Given the description of an element on the screen output the (x, y) to click on. 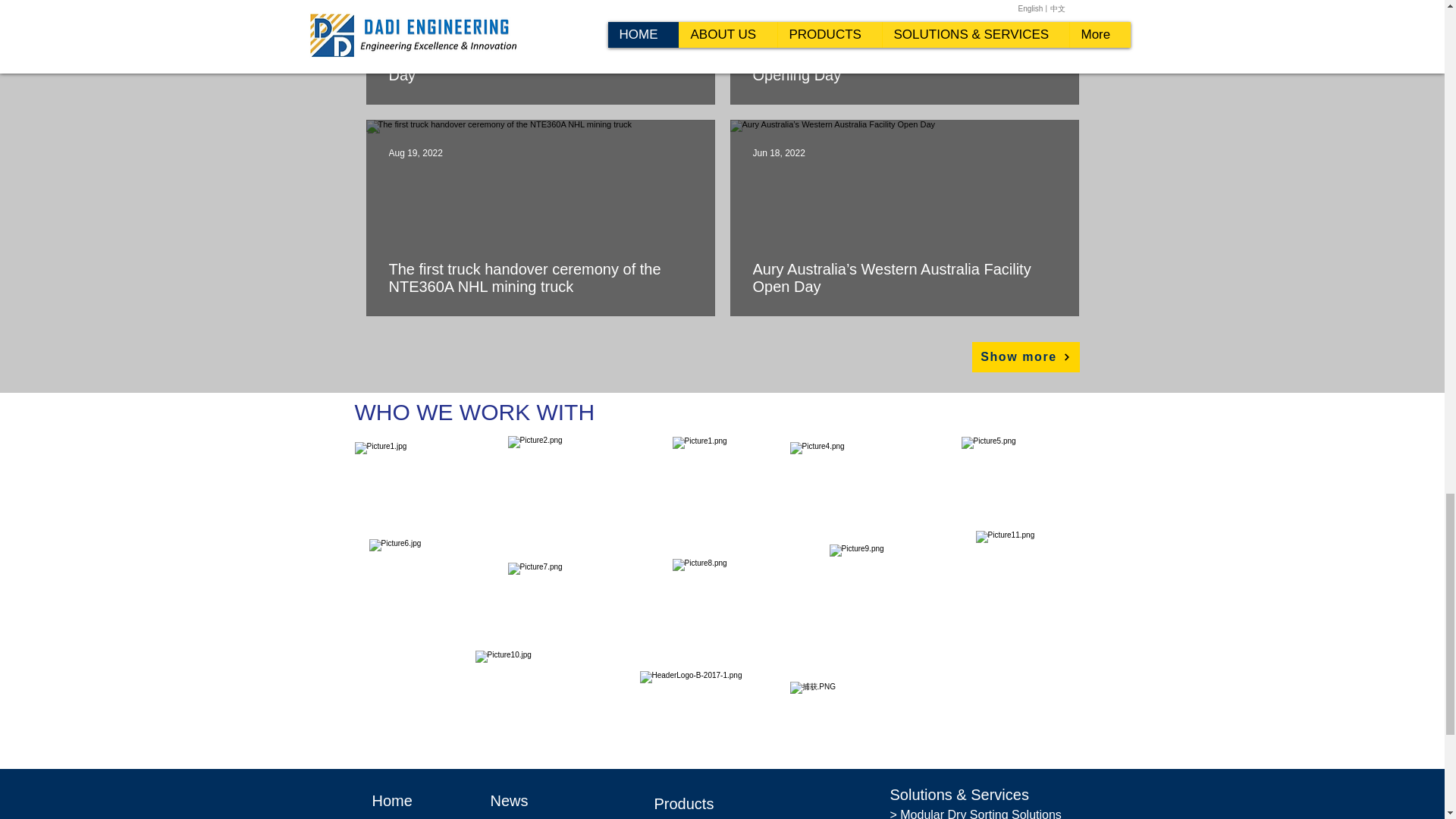
Aug 19, 2022 (415, 153)
Jun 18, 2022 (778, 153)
